Given the description of an element on the screen output the (x, y) to click on. 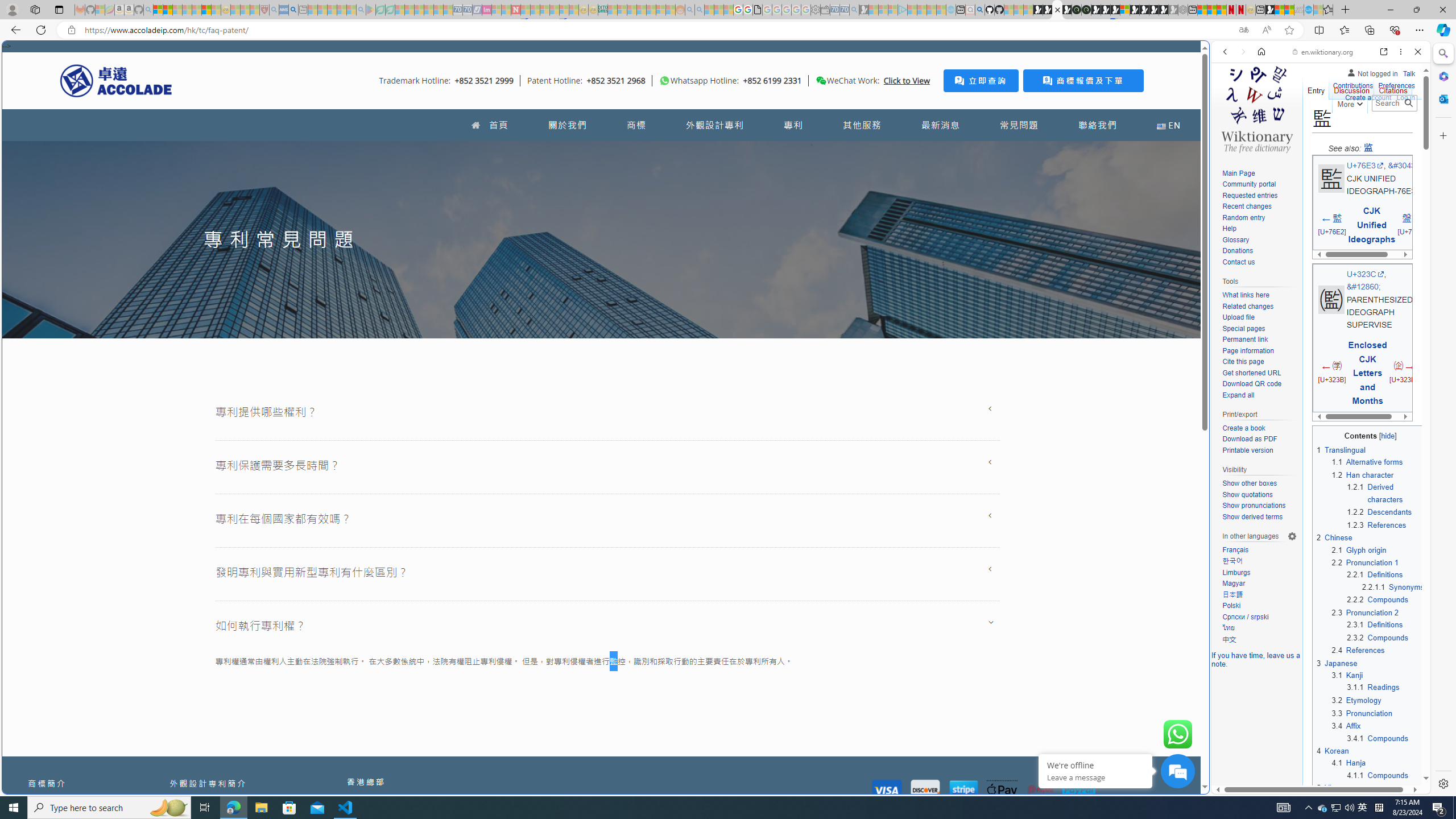
Contributions (1352, 84)
3.1Kanji3.1.1Readings (1377, 681)
2.1 Glyph origin (1358, 549)
Expert Portfolios - Sleeping (640, 9)
Printable version (1259, 450)
Tabs you've opened (885, 151)
Show other boxes (1259, 483)
Search or enter web address (922, 108)
Polski (1259, 605)
Show translate options (1243, 29)
